Given the description of an element on the screen output the (x, y) to click on. 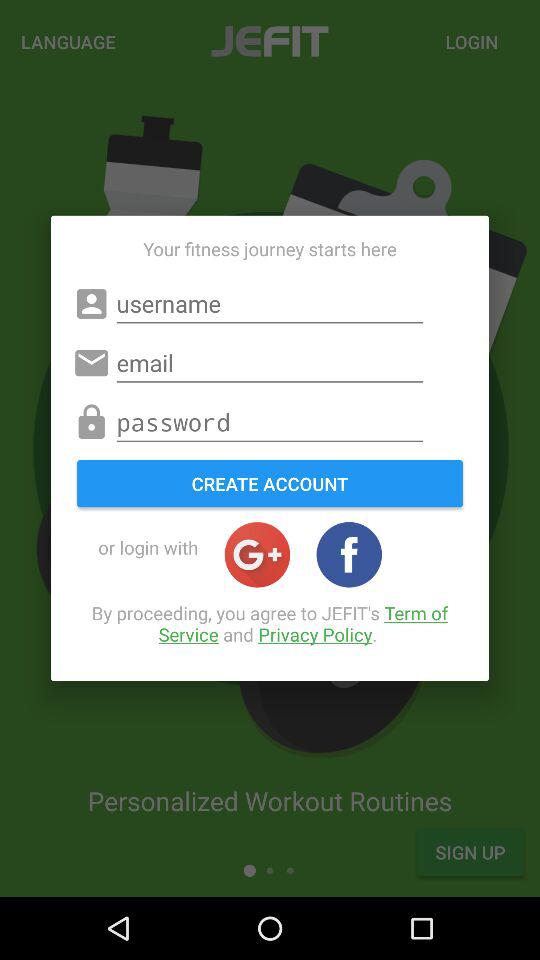
logs in with facebook (349, 554)
